Given the description of an element on the screen output the (x, y) to click on. 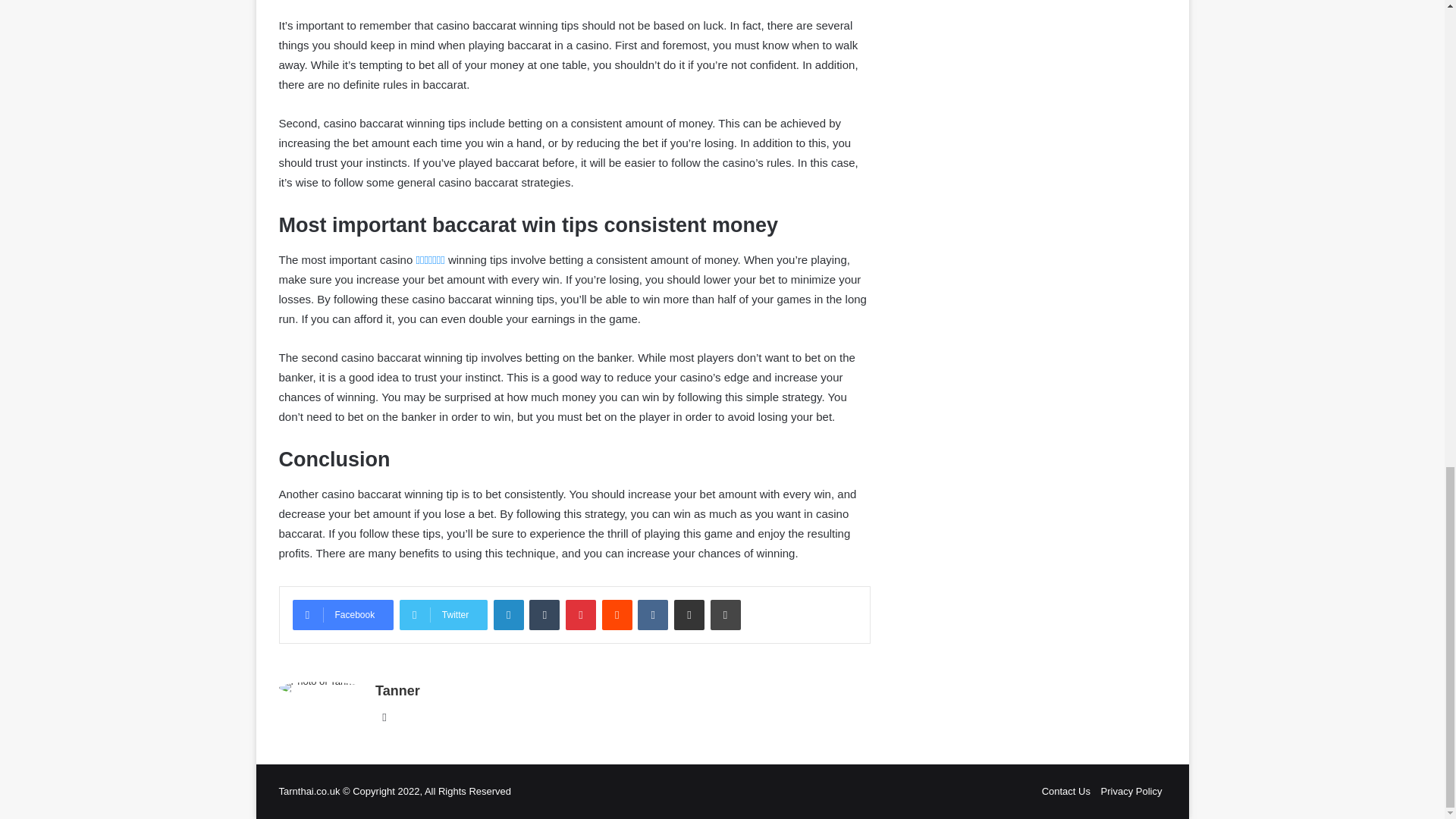
Print (725, 614)
Contact Us (1066, 790)
Share via Email (689, 614)
Reddit (616, 614)
VKontakte (652, 614)
Website (384, 717)
Pinterest (580, 614)
Share via Email (689, 614)
LinkedIn (508, 614)
Tumblr (544, 614)
Facebook (343, 614)
LinkedIn (508, 614)
Twitter (442, 614)
Tumblr (544, 614)
Facebook (343, 614)
